Given the description of an element on the screen output the (x, y) to click on. 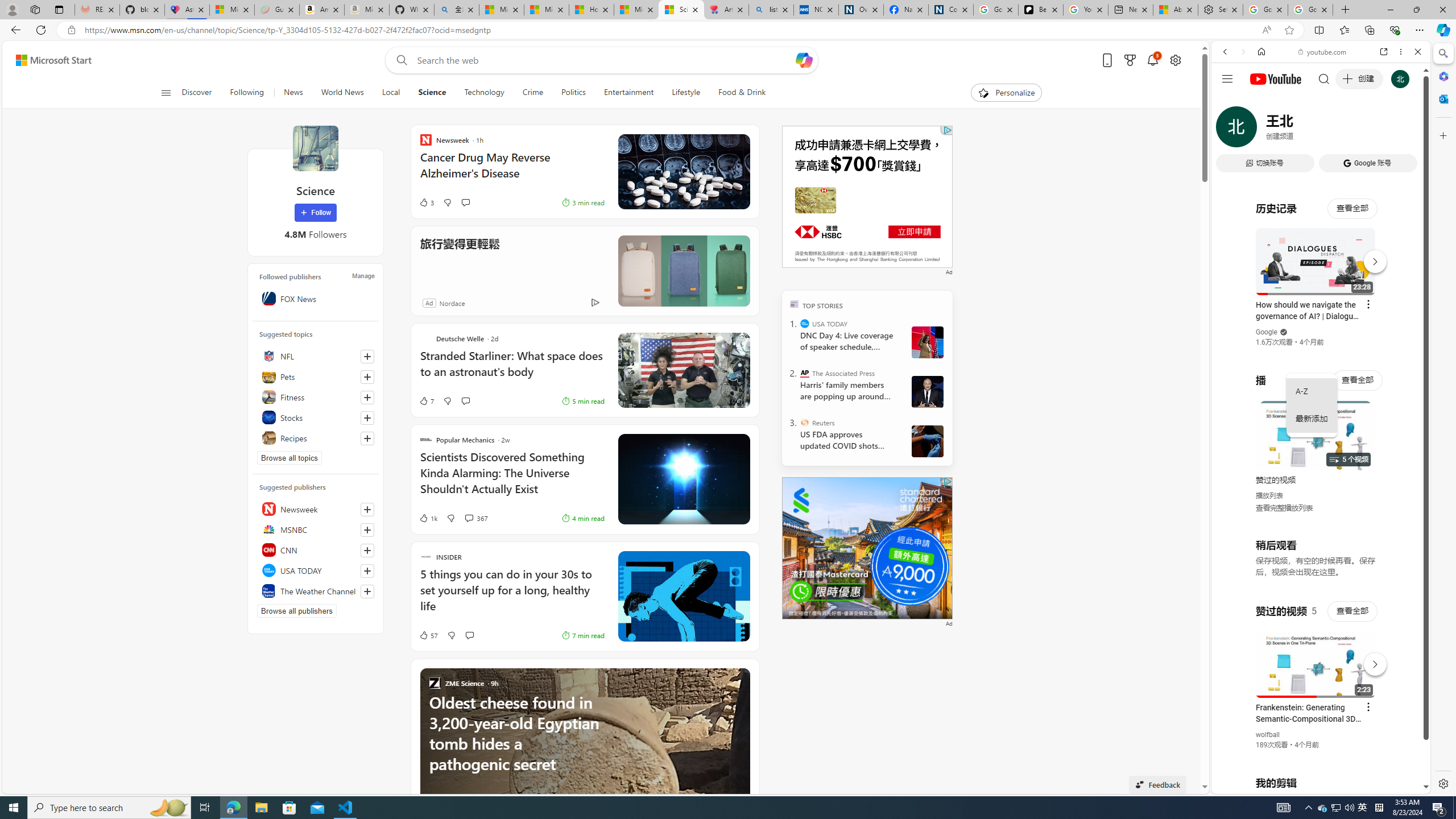
Browse all topics (289, 457)
Local (390, 92)
Politics (573, 92)
Technology (483, 92)
Follow this topic (367, 438)
World News (342, 92)
Recipes (315, 437)
Class: dict_pnIcon rms_img (1312, 784)
YouTube - YouTube (1315, 560)
Lifestyle (685, 92)
Actions for this site (1371, 661)
